Given the description of an element on the screen output the (x, y) to click on. 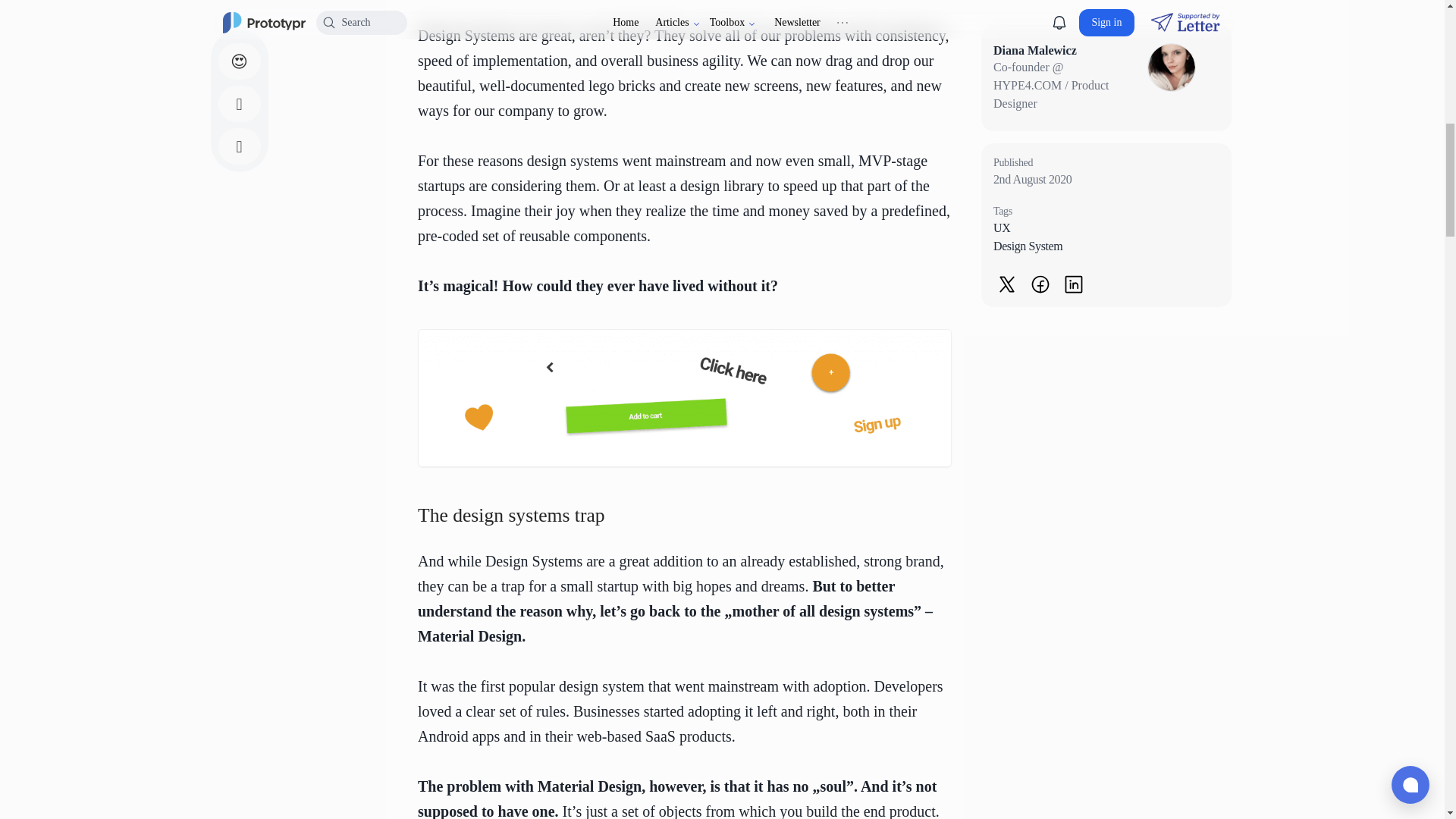
UX (1106, 228)
Design System (1106, 246)
